Given the description of an element on the screen output the (x, y) to click on. 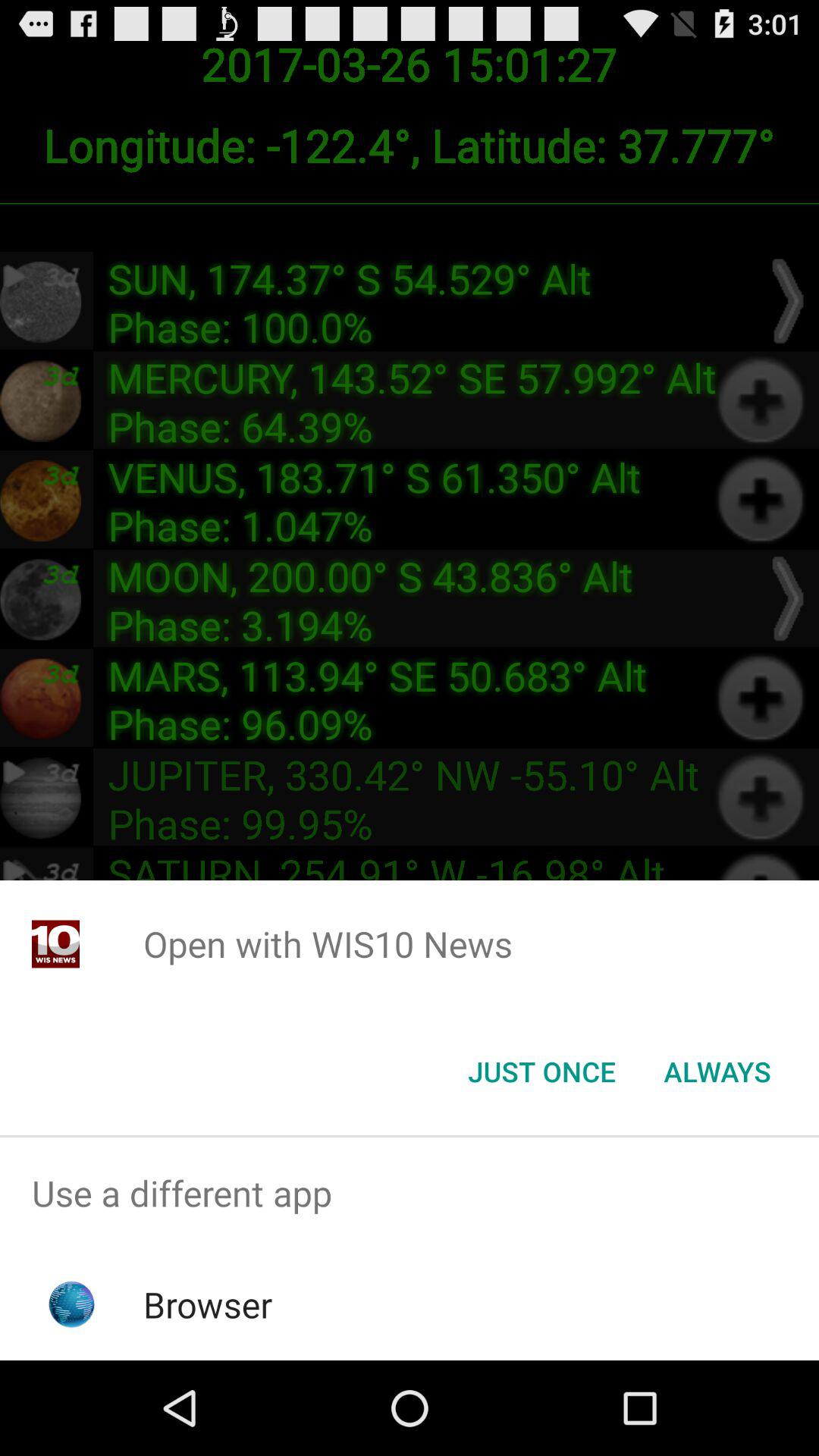
launch the item next to the just once item (717, 1071)
